Given the description of an element on the screen output the (x, y) to click on. 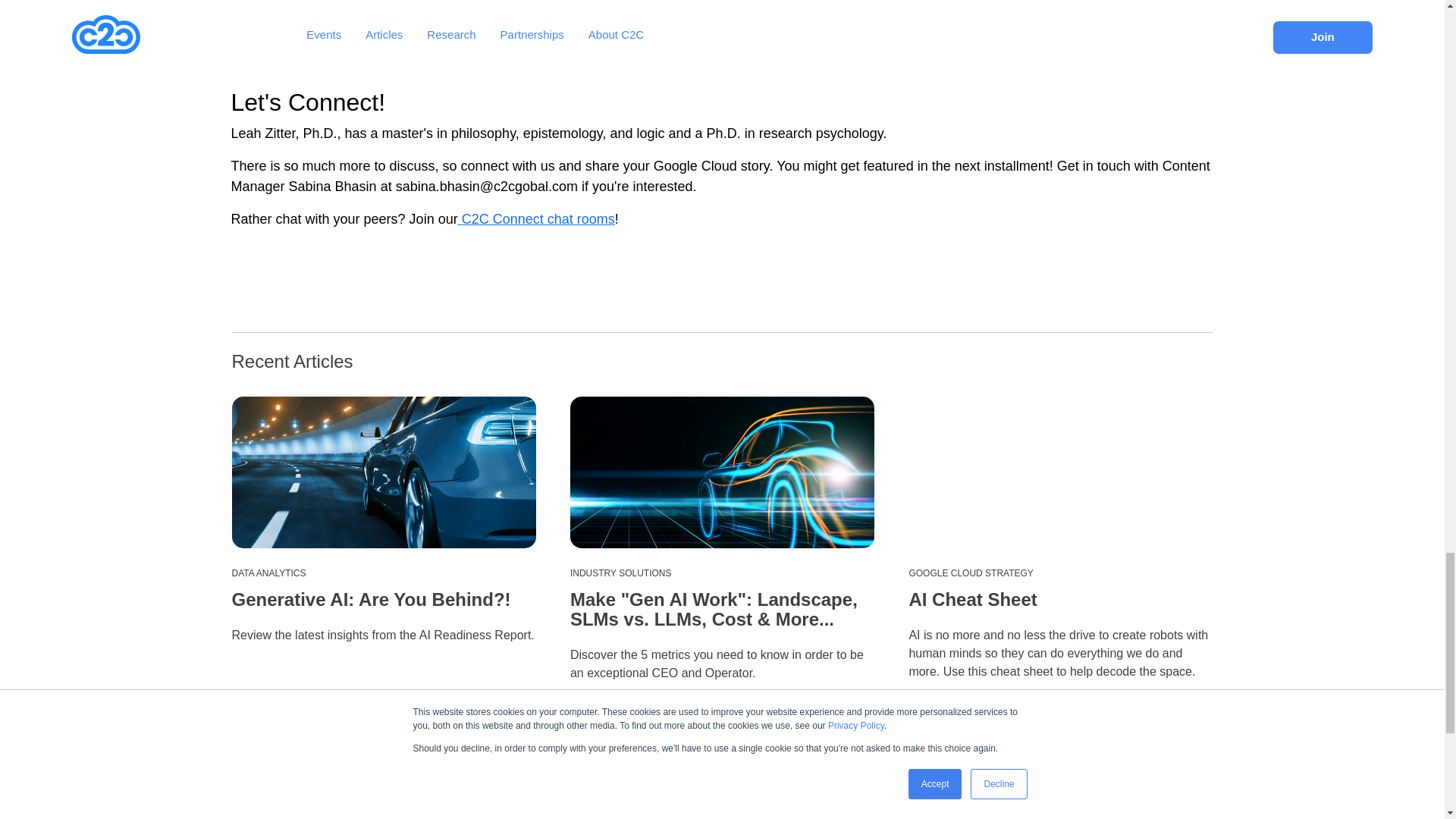
GOOGLE CLOUD STRATEGY (970, 572)
C2C Connect chat rooms (536, 218)
AI Cheat Sheet (972, 598)
INDUSTRY SOLUTIONS (620, 572)
Generative AI: Are You Behind?! (371, 598)
DATA ANALYTICS (268, 572)
